Given the description of an element on the screen output the (x, y) to click on. 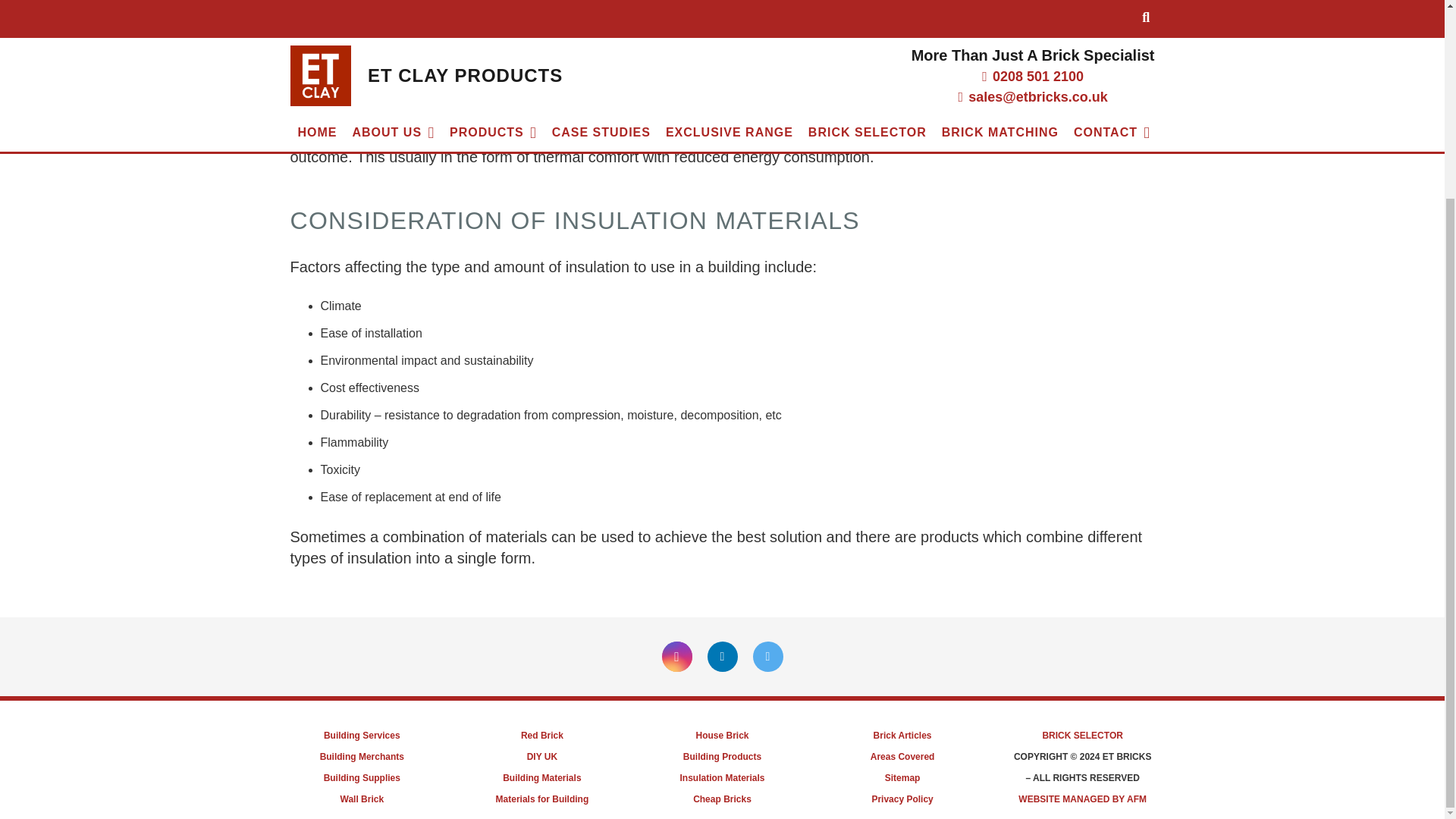
Instagram (676, 656)
Wall Brick (361, 798)
Building Supplies (361, 777)
LinkedIn (721, 656)
Red Brick (542, 735)
Twitter (767, 656)
Building Merchants (362, 756)
Building Services (361, 735)
